Given the description of an element on the screen output the (x, y) to click on. 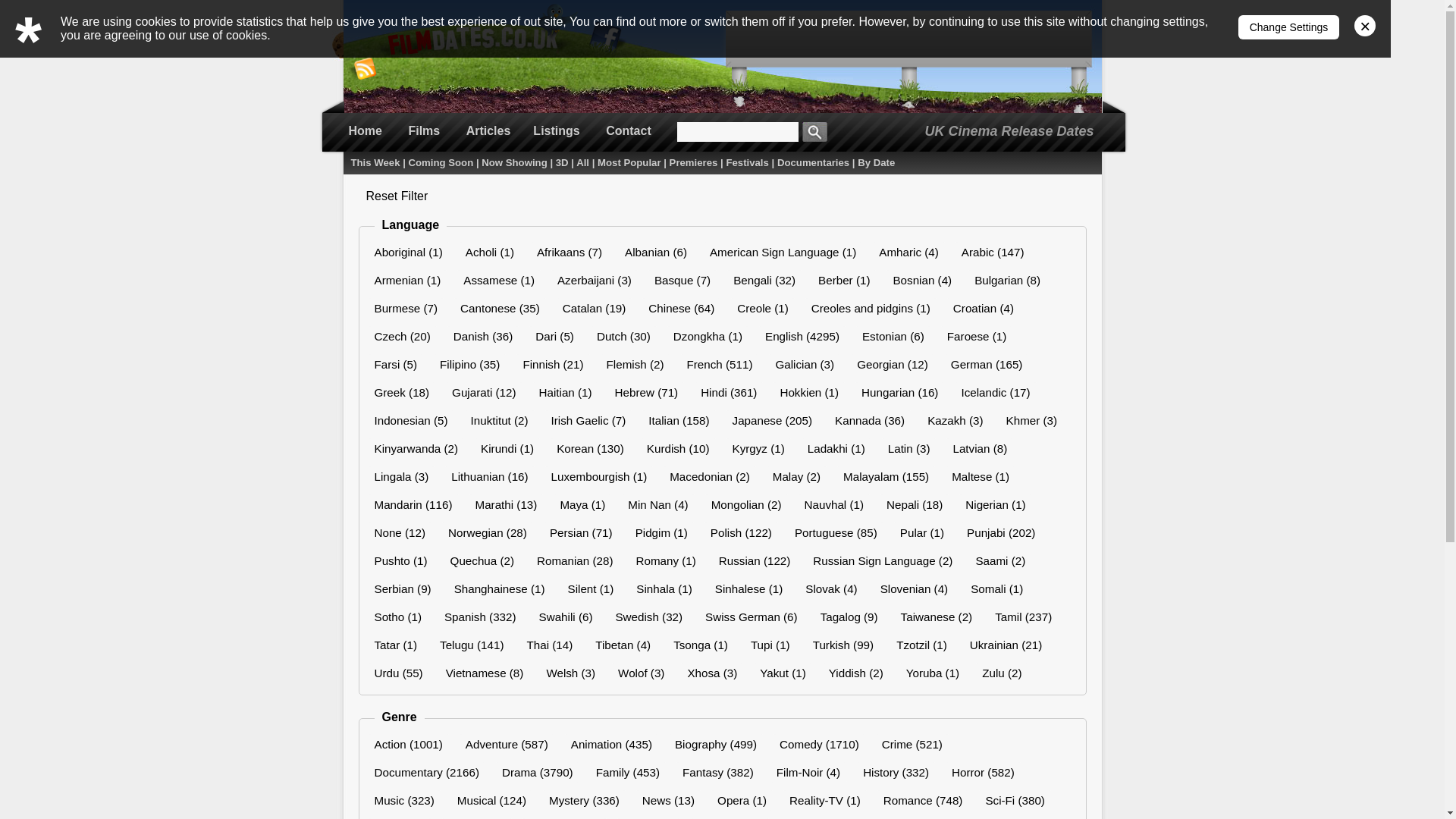
Change Settings (1289, 27)
By Date (876, 162)
Contact (628, 130)
Films (424, 130)
Festivals (746, 162)
Follow us on Twitter (557, 22)
Documentaries (812, 162)
This Week (374, 162)
Facebook (606, 39)
Home (364, 130)
Most Popular (628, 162)
Listings (556, 130)
Reset Filter (396, 196)
All (582, 162)
Coming Soon (441, 162)
